Given the description of an element on the screen output the (x, y) to click on. 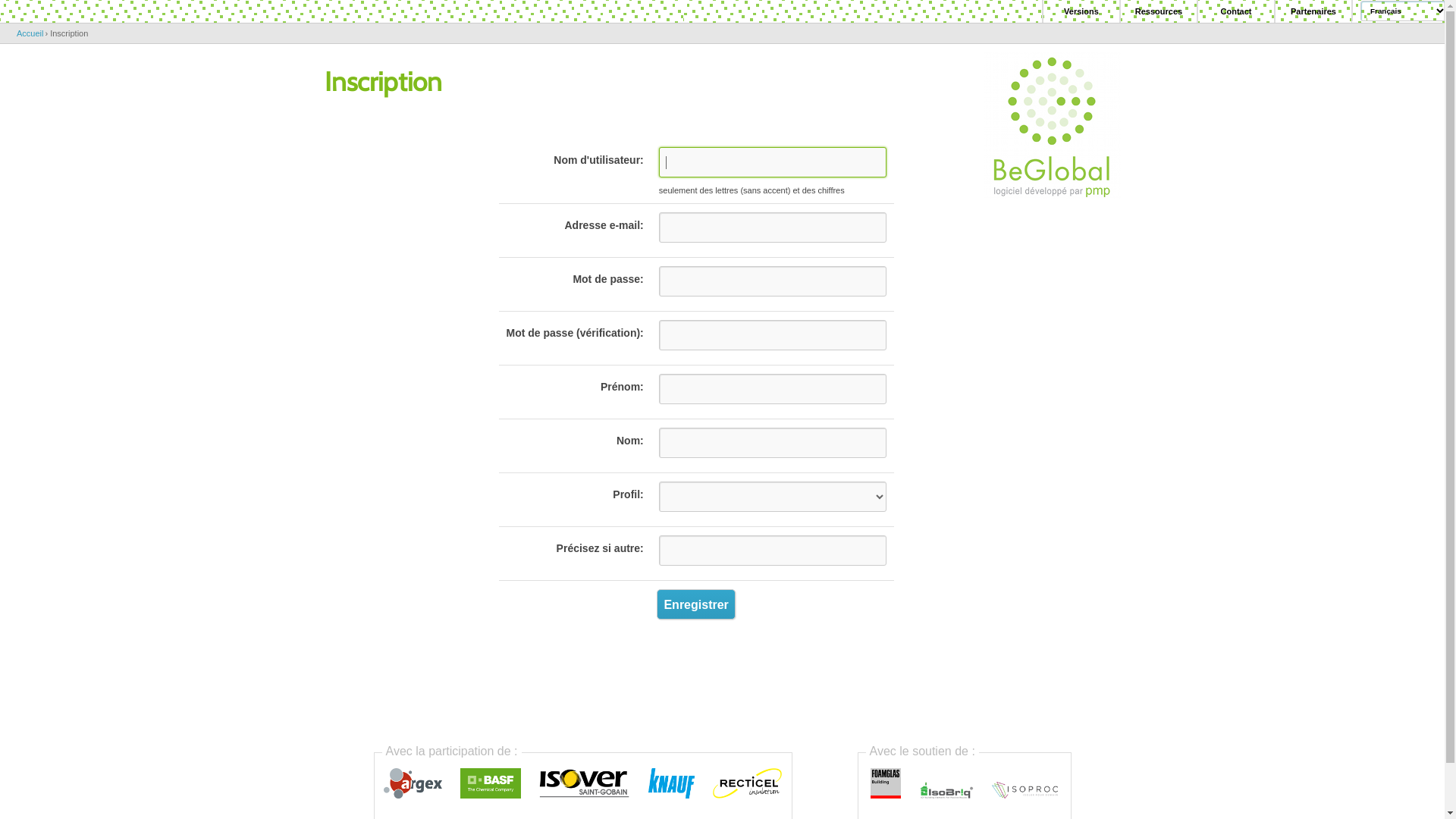
Enregistrer Element type: text (695, 604)
Versions Element type: text (1080, 10)
Ressources Element type: text (1158, 10)
Partenaires Element type: text (1313, 10)
Accueil Element type: text (29, 33)
Contact Element type: text (1236, 10)
